Given the description of an element on the screen output the (x, y) to click on. 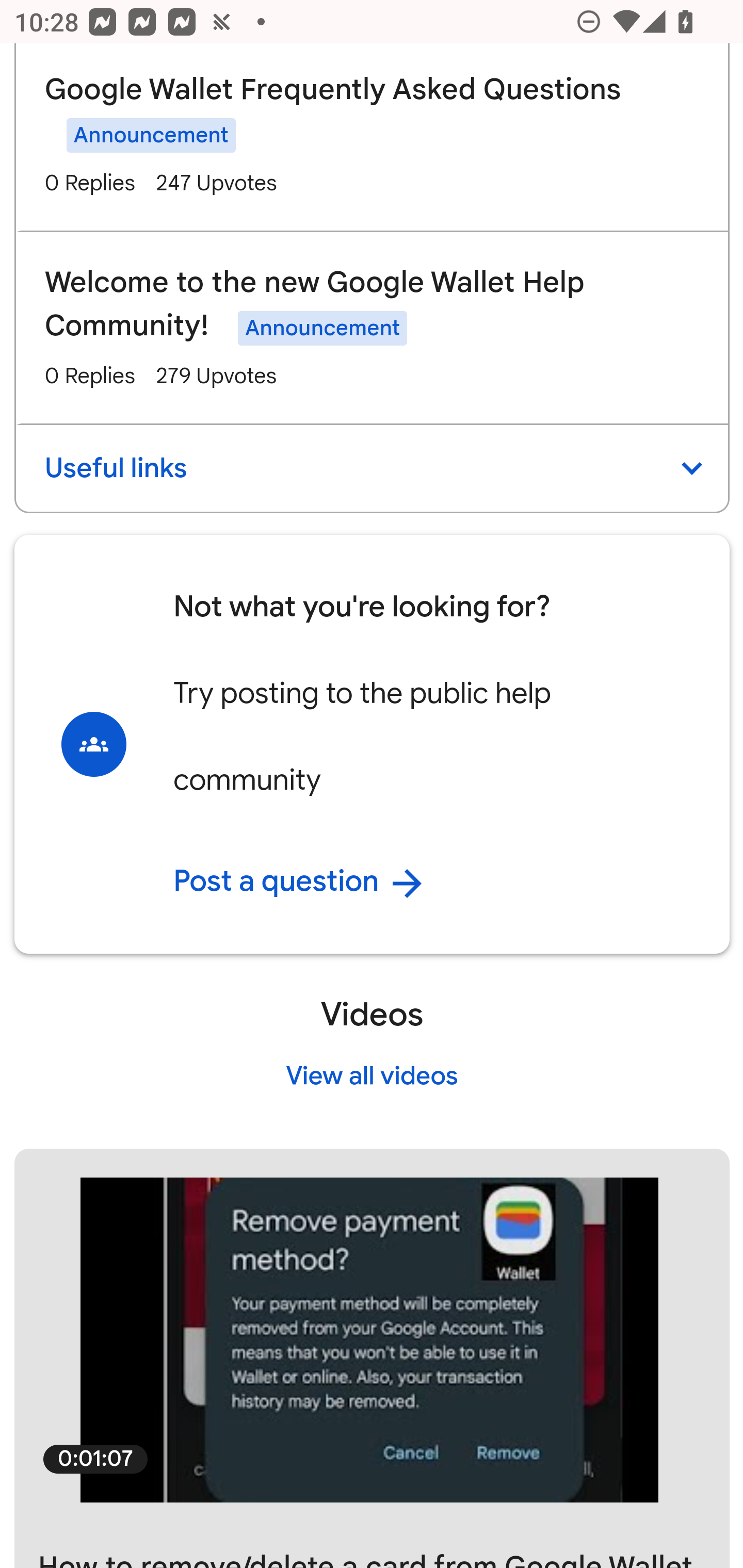
Useful links (371, 470)
Post a question  (437, 883)
View all videos (371, 1078)
